Given the description of an element on the screen output the (x, y) to click on. 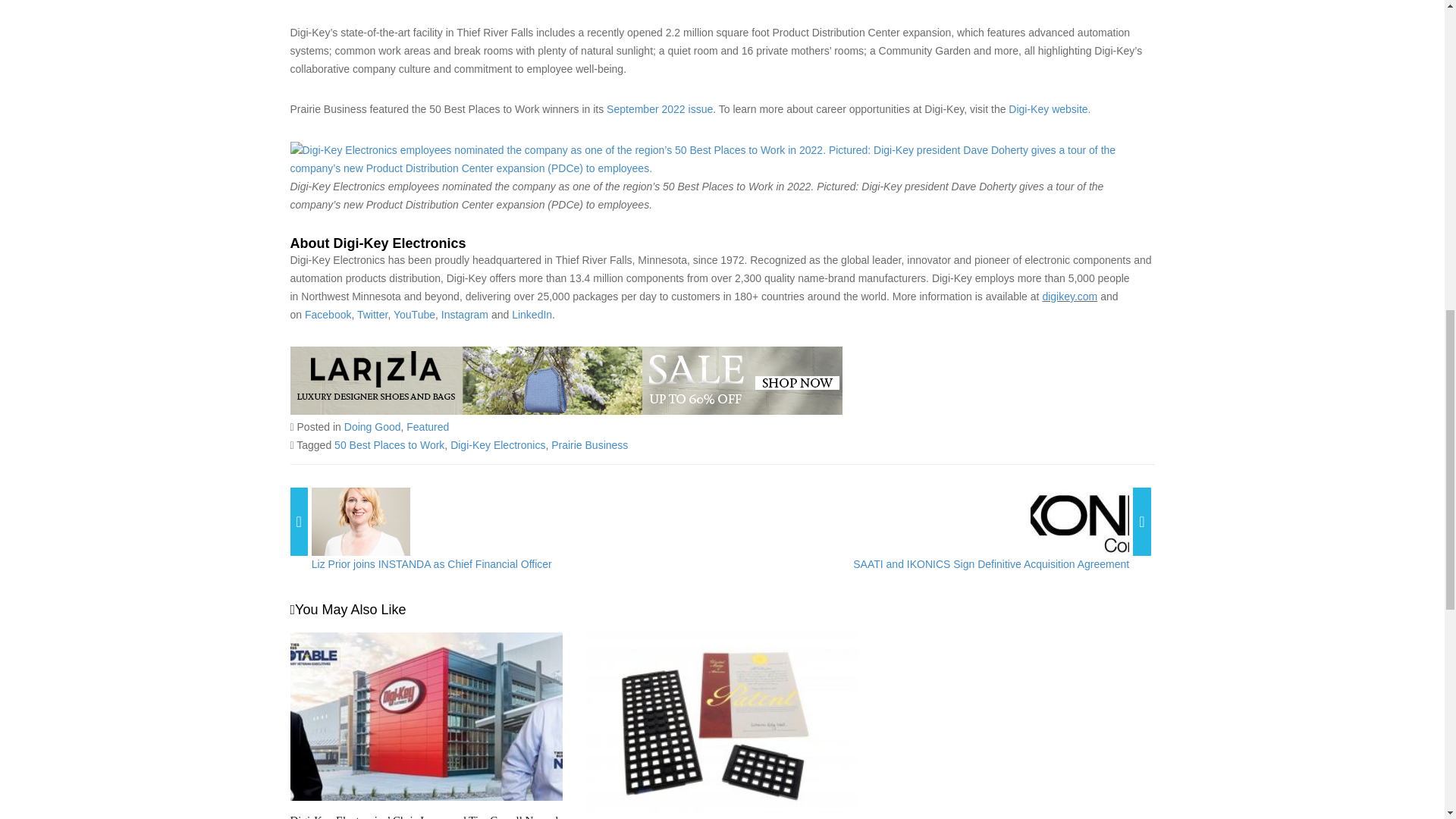
Digi-Key website. (1049, 109)
Digi-Key Electronics (496, 444)
Facebook (327, 314)
September 2022 issue (660, 109)
50 Best Places to Work (389, 444)
Doing Good (372, 426)
digikey.com (1069, 296)
Twitter (371, 314)
Instagram (464, 314)
